Given the description of an element on the screen output the (x, y) to click on. 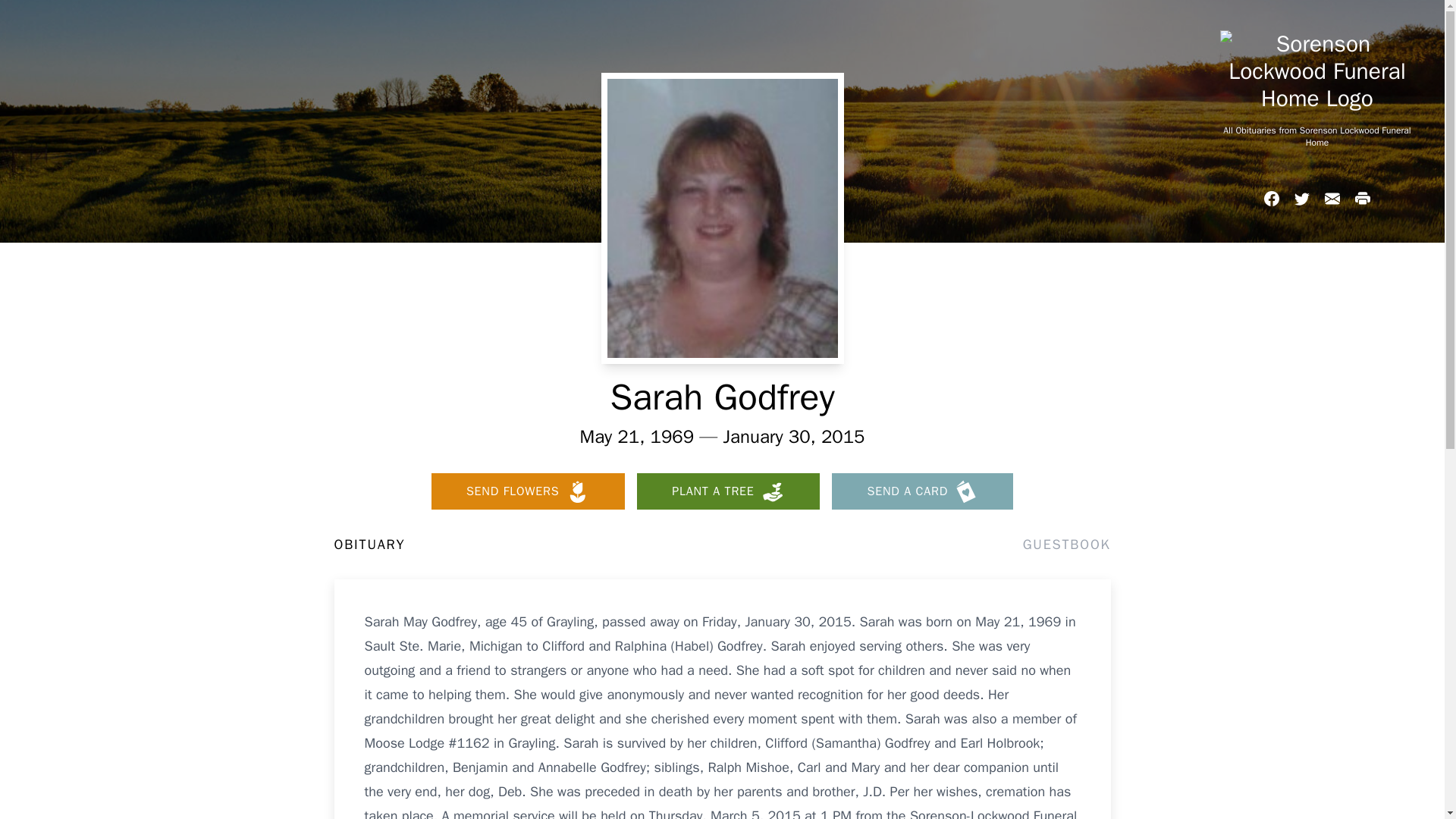
SEND A CARD (922, 491)
GUESTBOOK (1066, 544)
PLANT A TREE (728, 491)
OBITUARY (368, 544)
SEND FLOWERS (527, 491)
All Obituaries from Sorenson Lockwood Funeral Home (1316, 136)
